Given the description of an element on the screen output the (x, y) to click on. 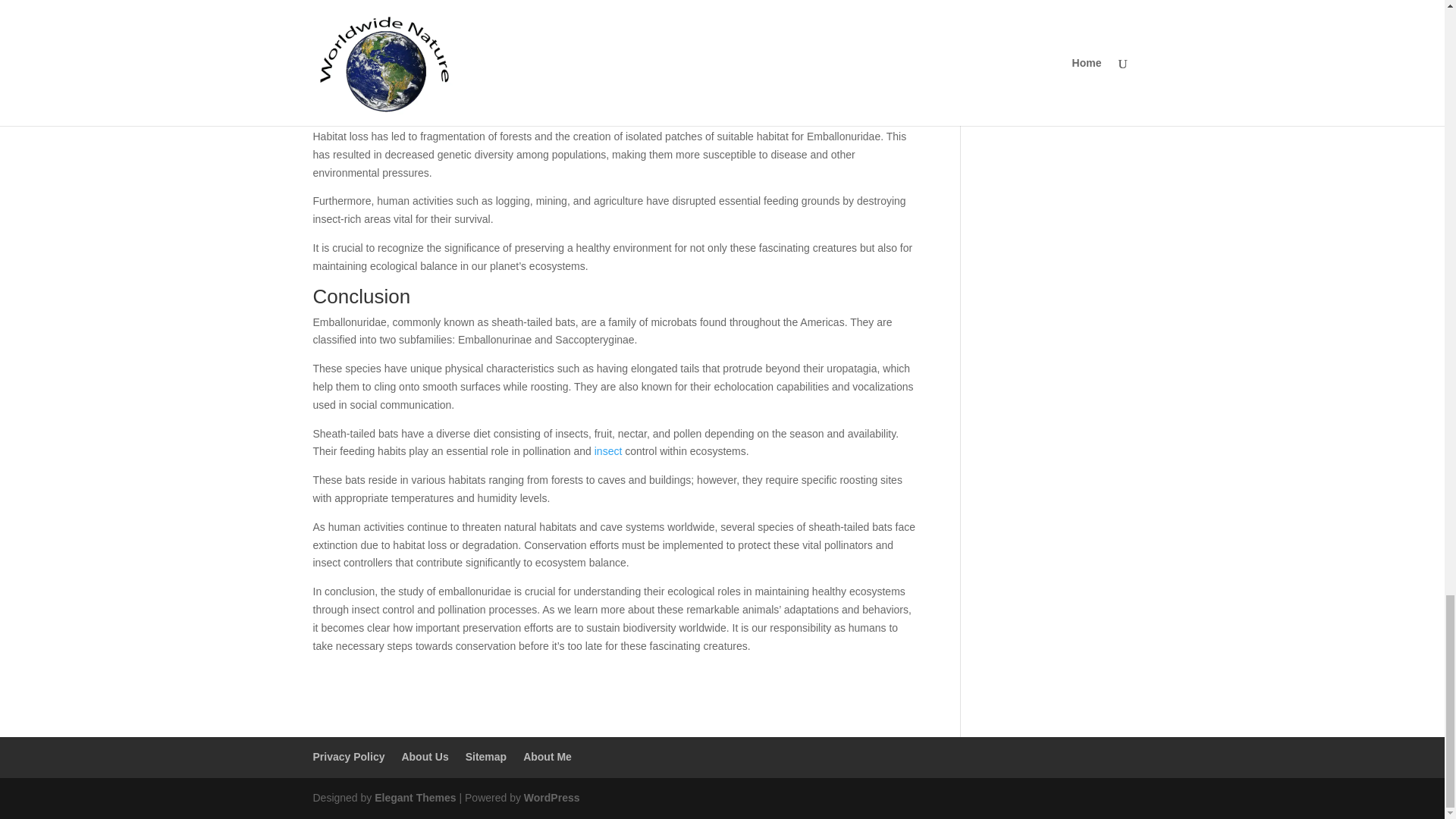
About Me (547, 756)
insect (608, 451)
Privacy Policy (348, 756)
WordPress (551, 797)
Sitemap (485, 756)
Elegant Themes (414, 797)
About Us (424, 756)
insect (608, 451)
Premium WordPress Themes (414, 797)
